Given the description of an element on the screen output the (x, y) to click on. 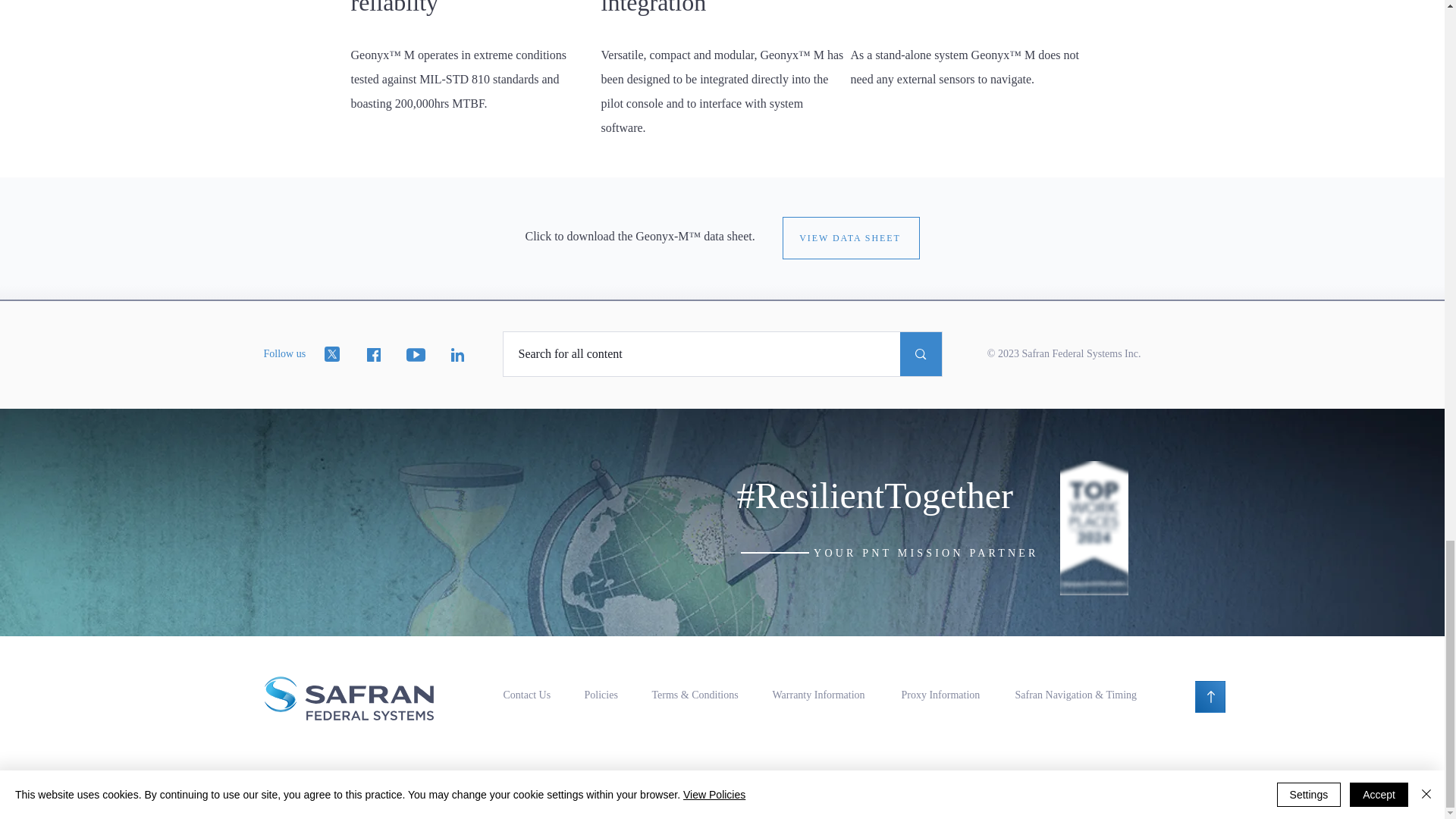
Follow us (284, 353)
Policies (600, 695)
VIEW DATA SHEET (851, 238)
Contact Us (527, 695)
Proxy Information (940, 695)
Warranty Information (817, 695)
